Given the description of an element on the screen output the (x, y) to click on. 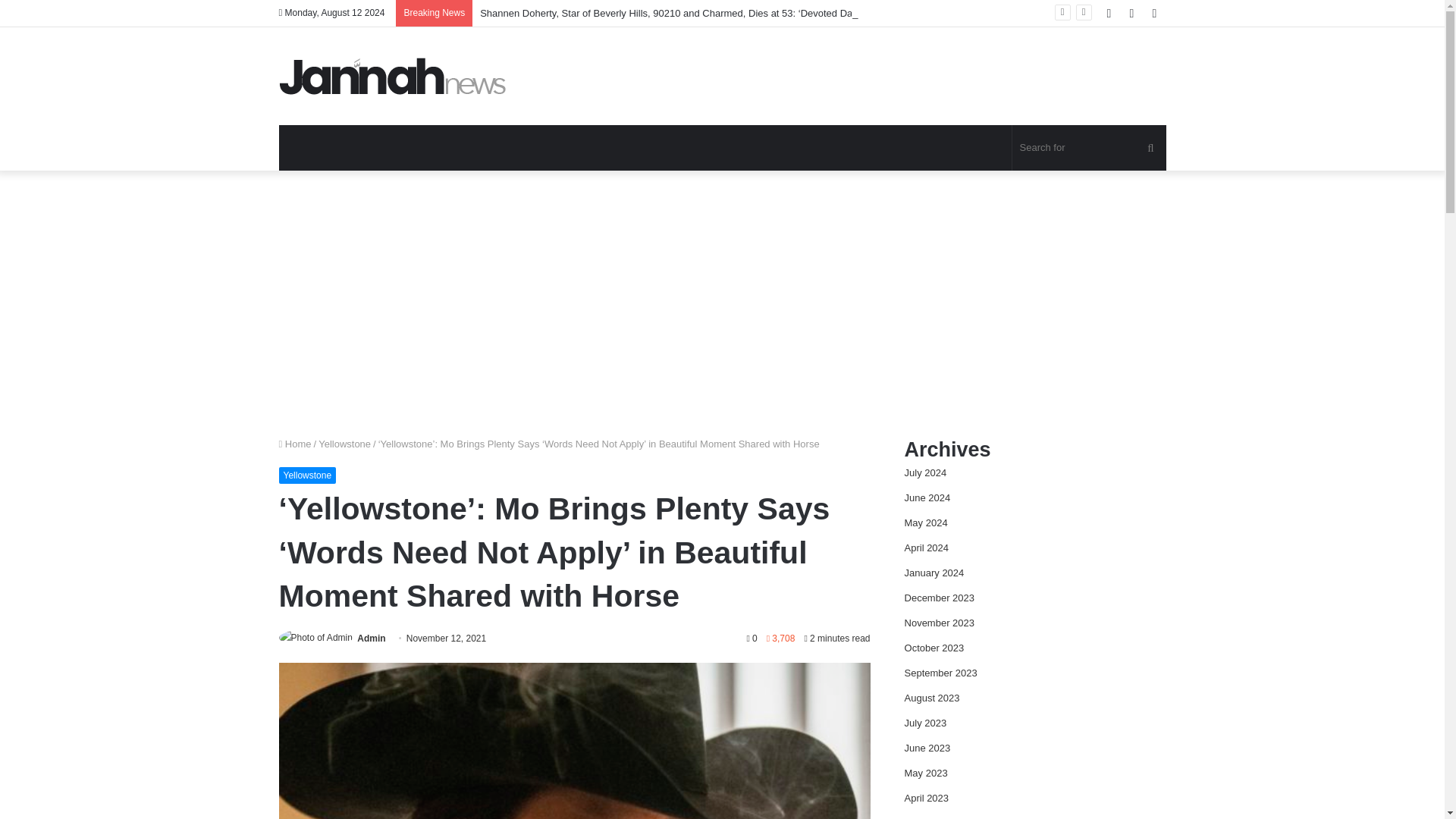
Search for (1088, 147)
Movie News (392, 76)
Admin (370, 638)
Yellowstone (344, 443)
Yellowstone (307, 475)
Home (295, 443)
Admin (370, 638)
